Given the description of an element on the screen output the (x, y) to click on. 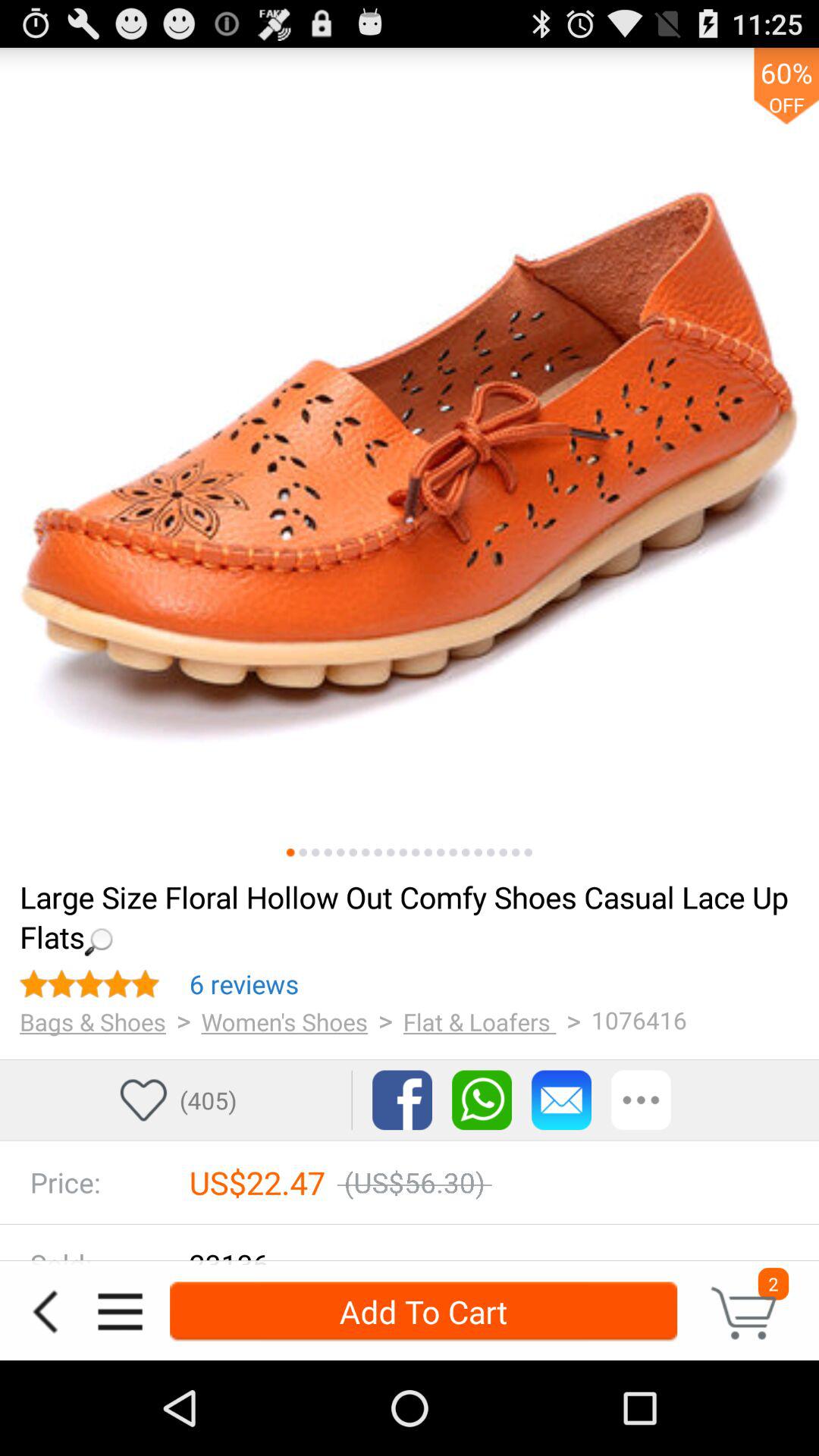
open the bags & shoes icon (92, 1021)
